Given the description of an element on the screen output the (x, y) to click on. 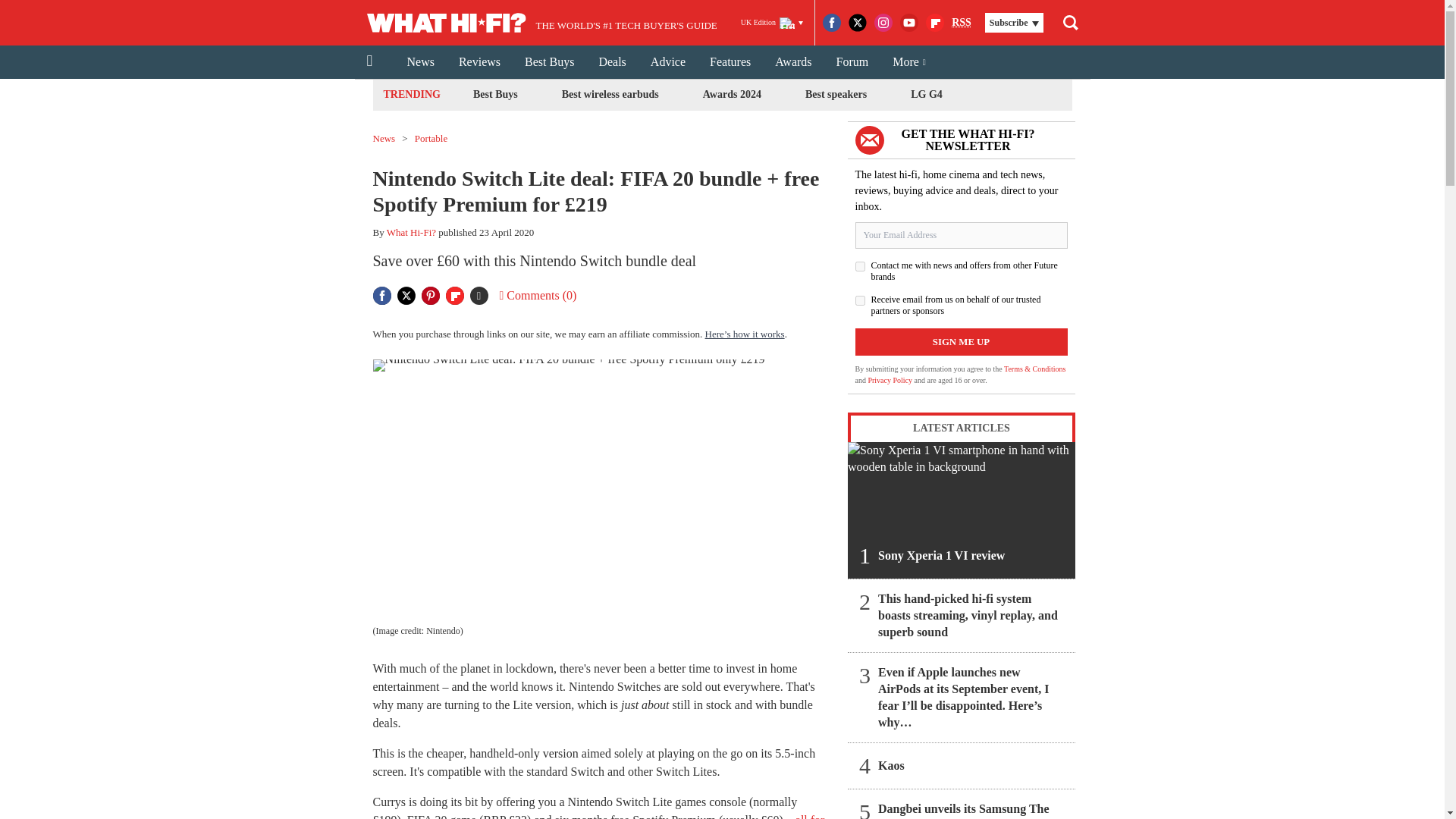
Best Buys (494, 94)
Features (729, 61)
Sony Xperia 1 VI review (961, 510)
RSS (961, 22)
Best wireless earbuds (609, 94)
Best Buys (549, 61)
Really Simple Syndication (961, 21)
Advice (668, 61)
Sign me up (961, 341)
What Hi-Fi? (411, 232)
